Given the description of an element on the screen output the (x, y) to click on. 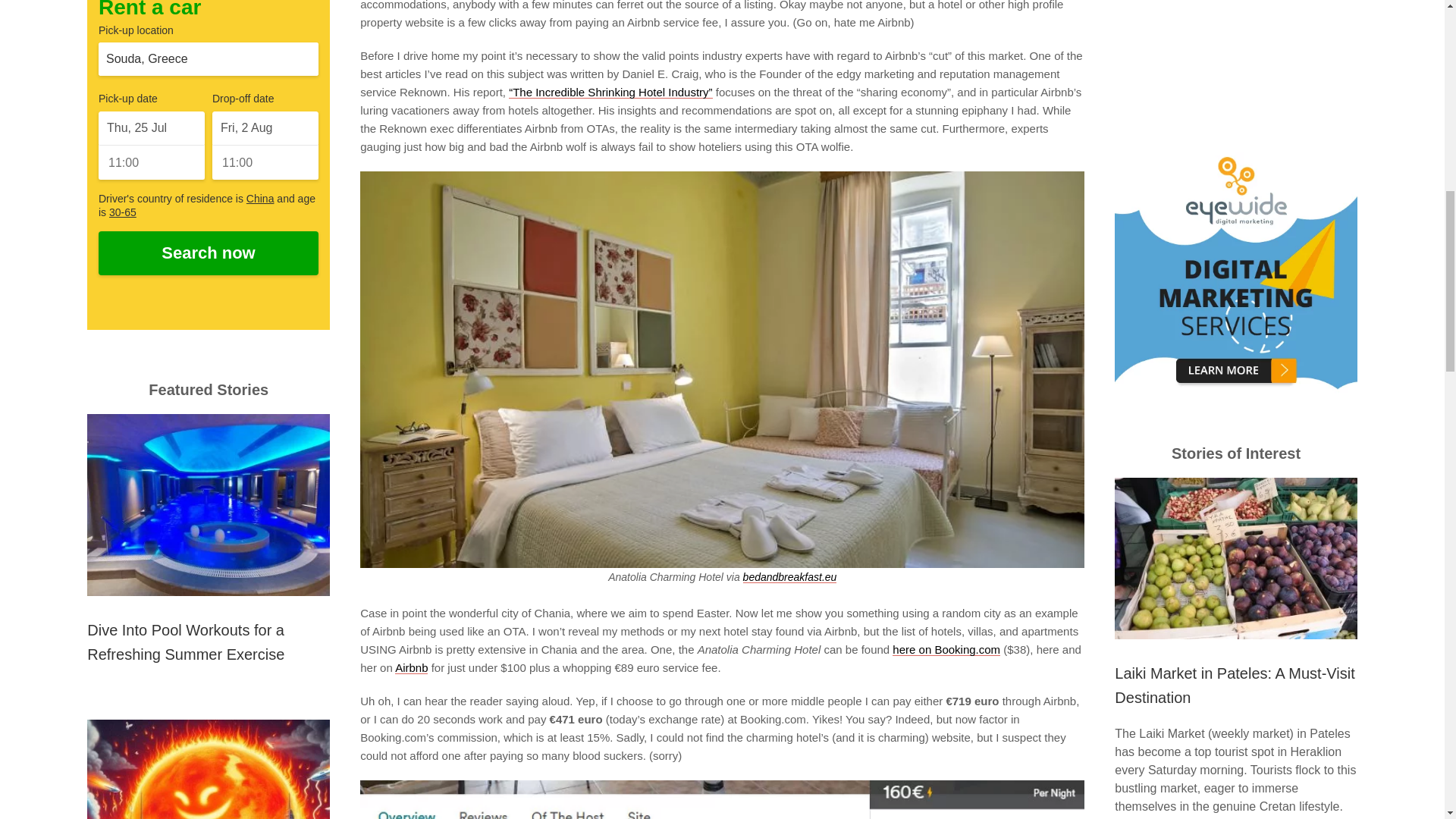
Airbnb (411, 667)
GetYourGuide Widget (1235, 53)
bedandbreakfast.eu (789, 576)
here on Booking.com (946, 649)
